Given the description of an element on the screen output the (x, y) to click on. 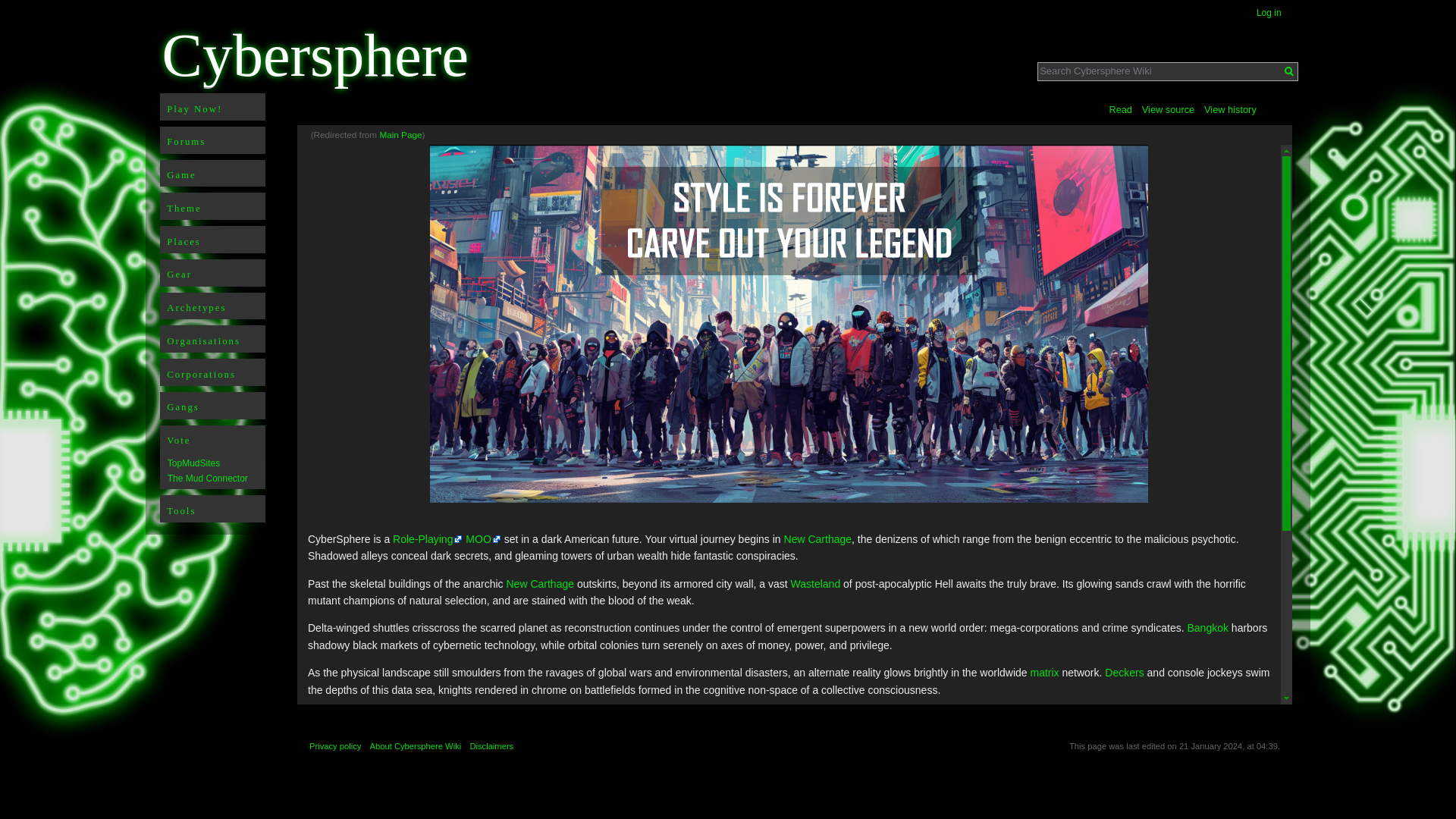
New Carthage (817, 539)
Deckers (1123, 672)
New Carthage (540, 583)
web client (544, 744)
Main Page (400, 134)
Main Page (400, 134)
matrix (1043, 672)
Visit the main page (332, 59)
Forums (212, 139)
Read (1120, 105)
New Carthage (540, 583)
Wastes (815, 583)
MOO (482, 539)
New Carthage (817, 539)
Client (544, 744)
